Given the description of an element on the screen output the (x, y) to click on. 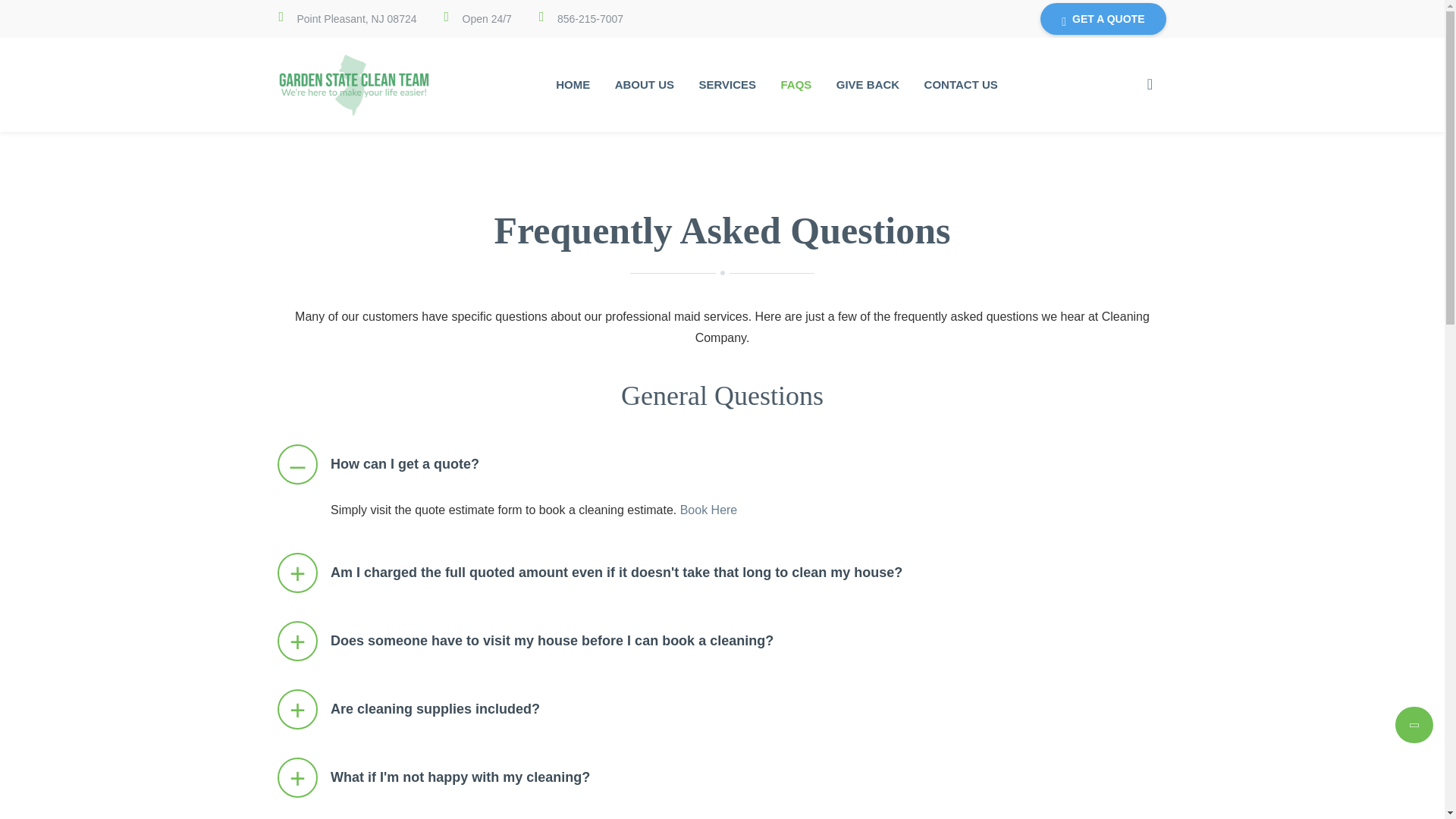
ABOUT US (643, 85)
GIVE BACK (867, 85)
FAQS (796, 85)
CONTACT US (961, 85)
GET A QUOTE (1103, 19)
SERVICES (726, 85)
HOME (572, 85)
Book Here (708, 509)
